Given the description of an element on the screen output the (x, y) to click on. 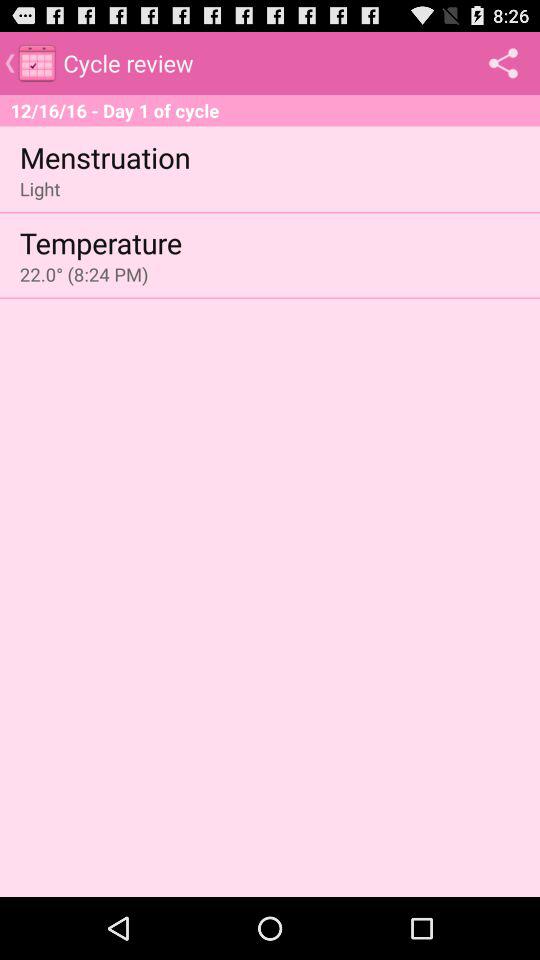
jump until 22 0 8 icon (83, 273)
